Given the description of an element on the screen output the (x, y) to click on. 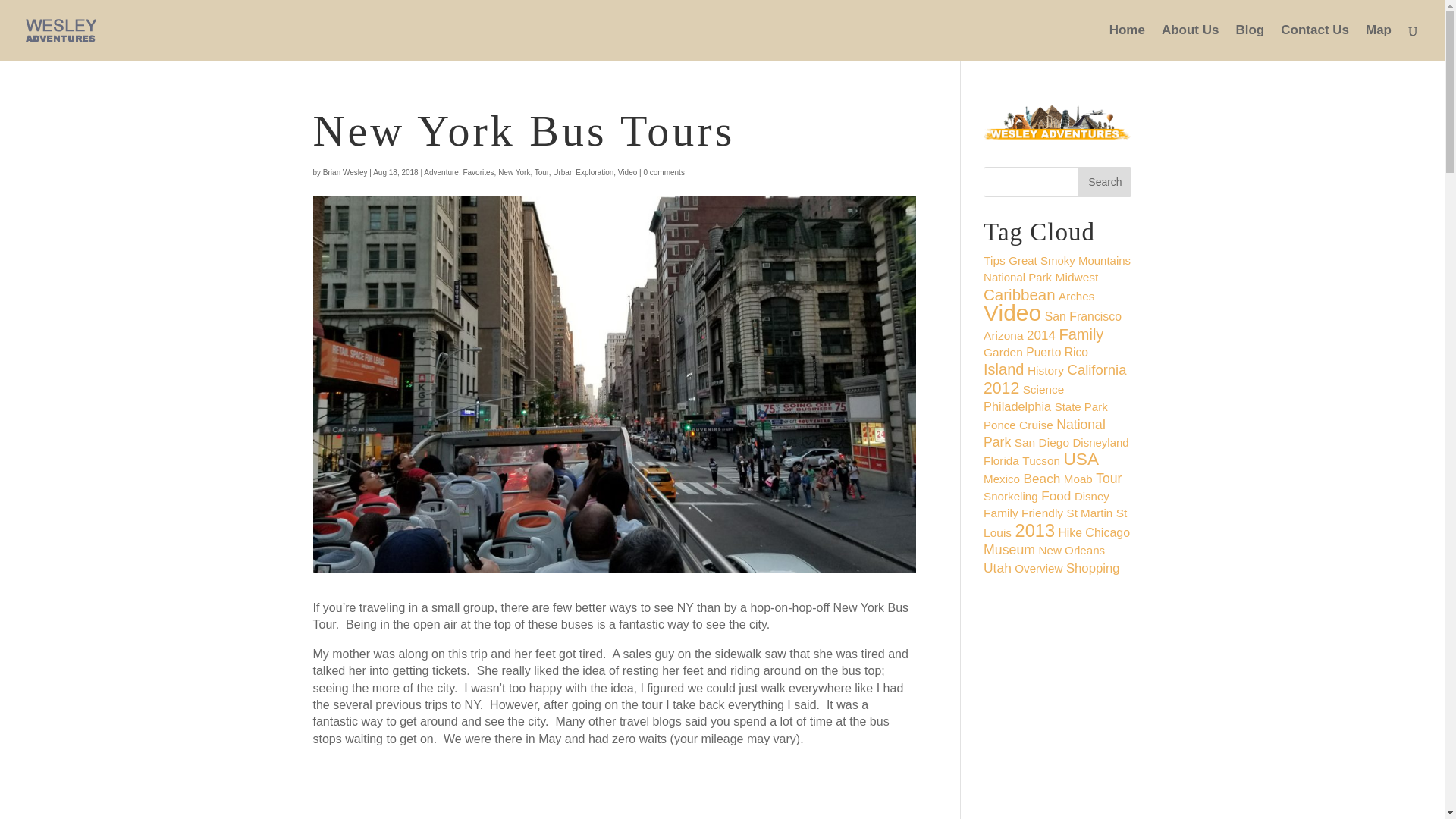
Brian Wesley (345, 172)
7 topics (995, 259)
36 topics (1019, 294)
About Us (1190, 42)
Favorites (478, 172)
4 topics (1057, 268)
Contact Us (1315, 42)
New York (513, 172)
Search (1104, 182)
Urban Exploration (582, 172)
Home (1126, 42)
Adventure (440, 172)
8 topics (1056, 351)
33 topics (1080, 334)
9 topics (1083, 316)
